Given the description of an element on the screen output the (x, y) to click on. 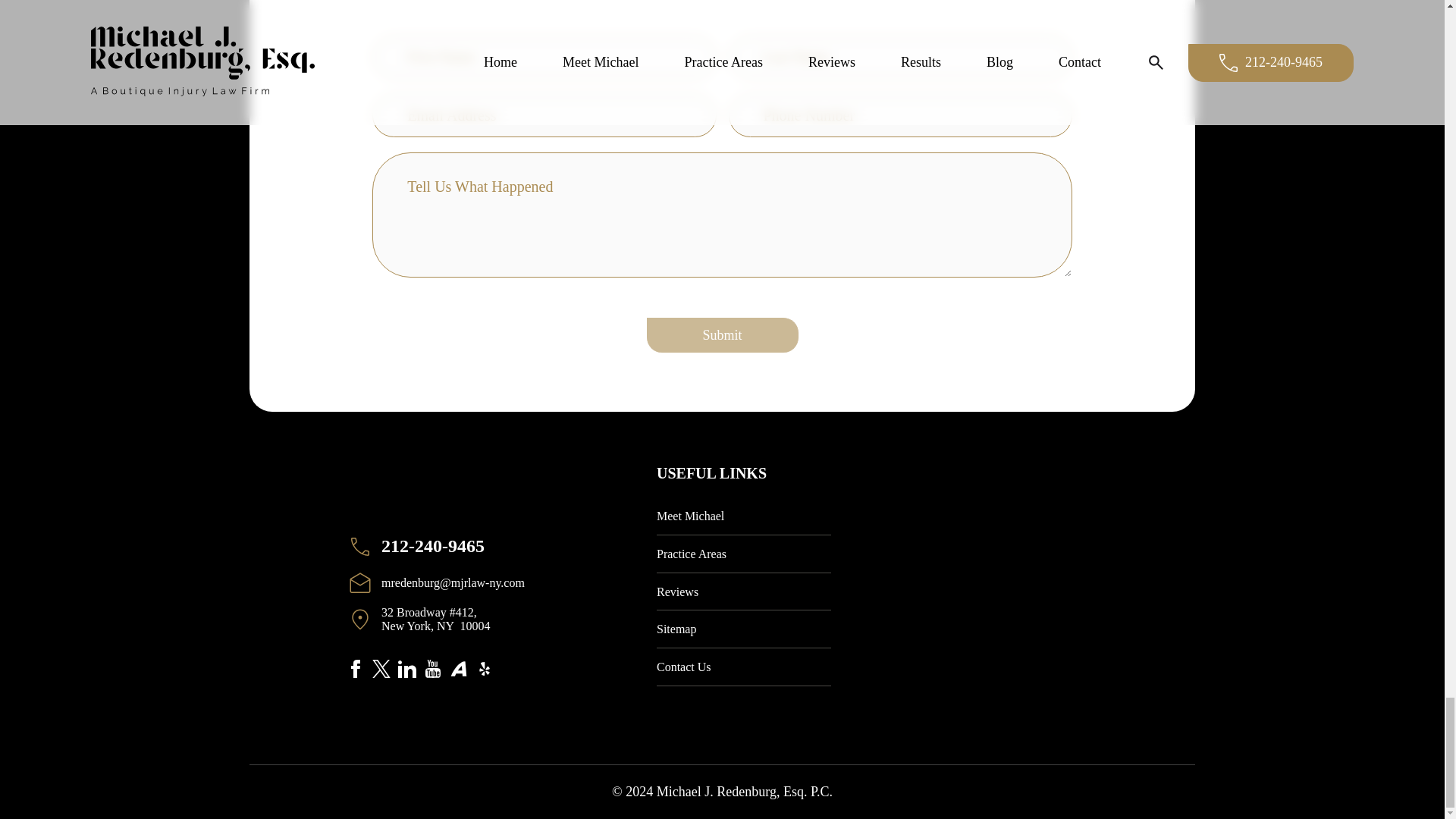
Submit (721, 334)
212-240-9465 (449, 546)
Submit (721, 334)
logo--yelp (484, 669)
logo--yelp (484, 672)
